Given the description of an element on the screen output the (x, y) to click on. 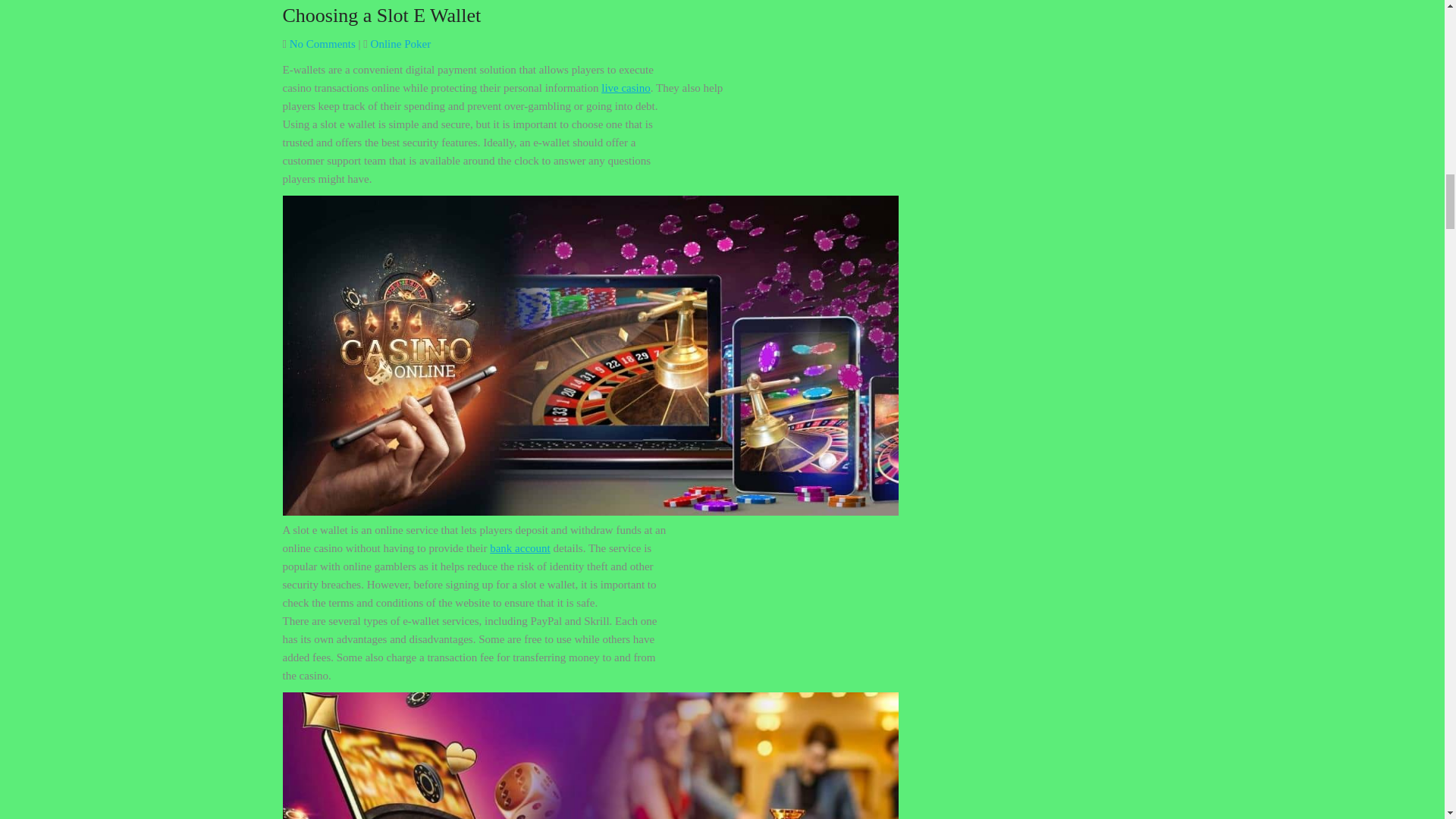
Online Poker (400, 43)
bank account (519, 548)
No Comments (322, 43)
Choosing a Slot E Wallet (381, 15)
live casino (625, 87)
